Given the description of an element on the screen output the (x, y) to click on. 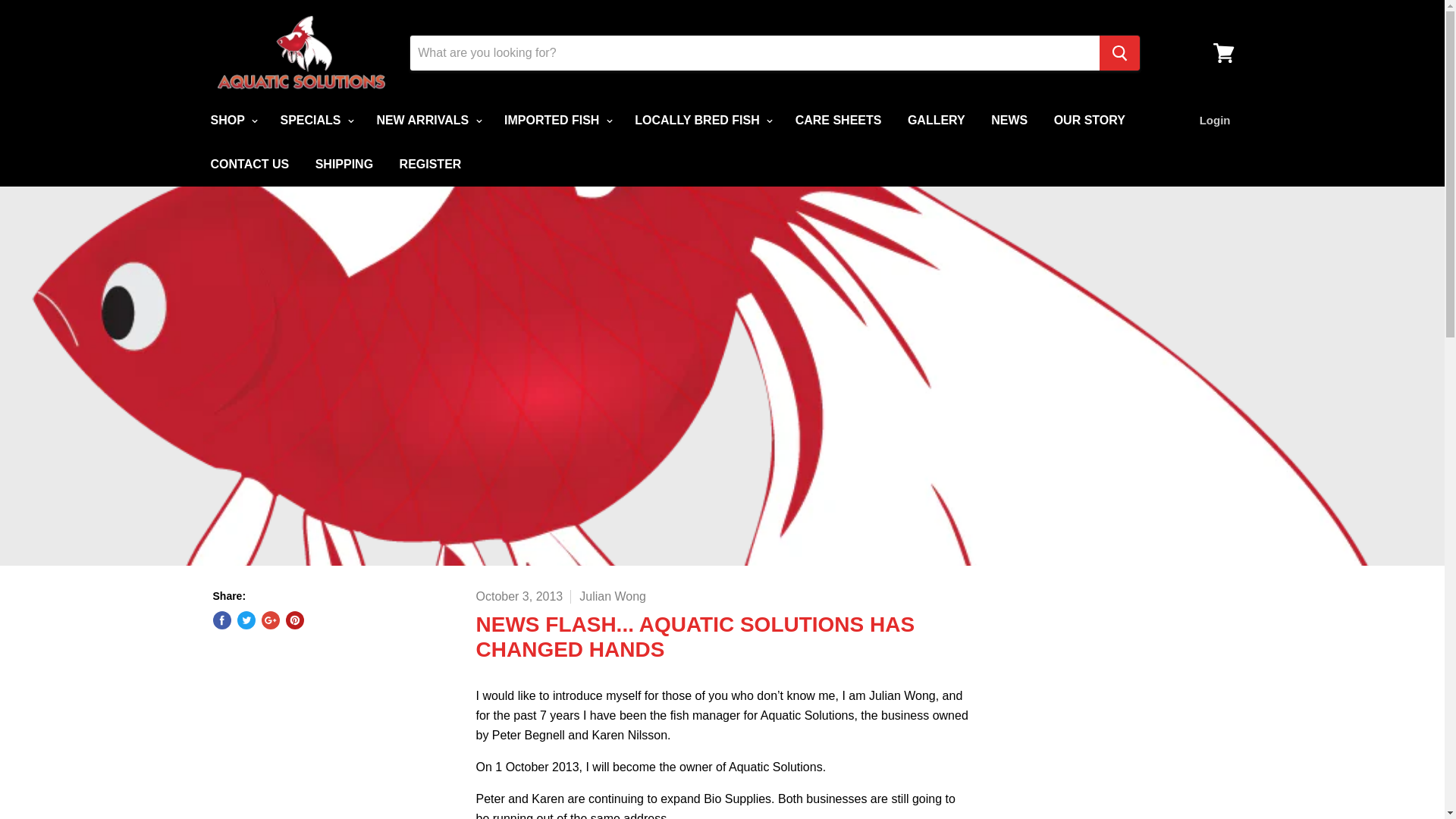
SHOP (231, 120)
View cart (1223, 53)
